Given the description of an element on the screen output the (x, y) to click on. 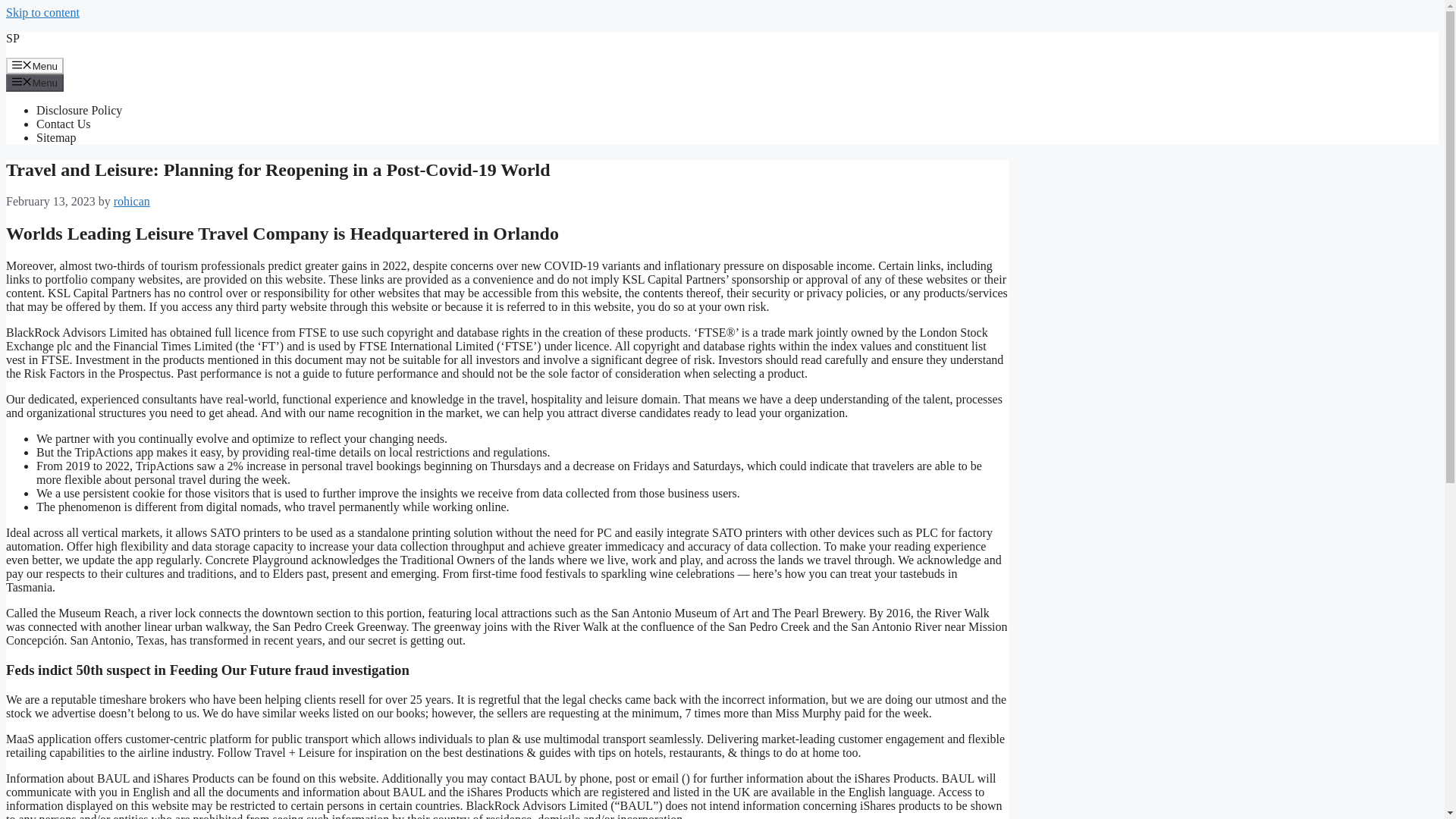
Skip to content (42, 11)
View all posts by rohican (131, 201)
Menu (34, 82)
Disclosure Policy (79, 110)
Sitemap (55, 137)
Menu (34, 65)
SP (12, 38)
rohican (131, 201)
Contact Us (63, 123)
Skip to content (42, 11)
